Given the description of an element on the screen output the (x, y) to click on. 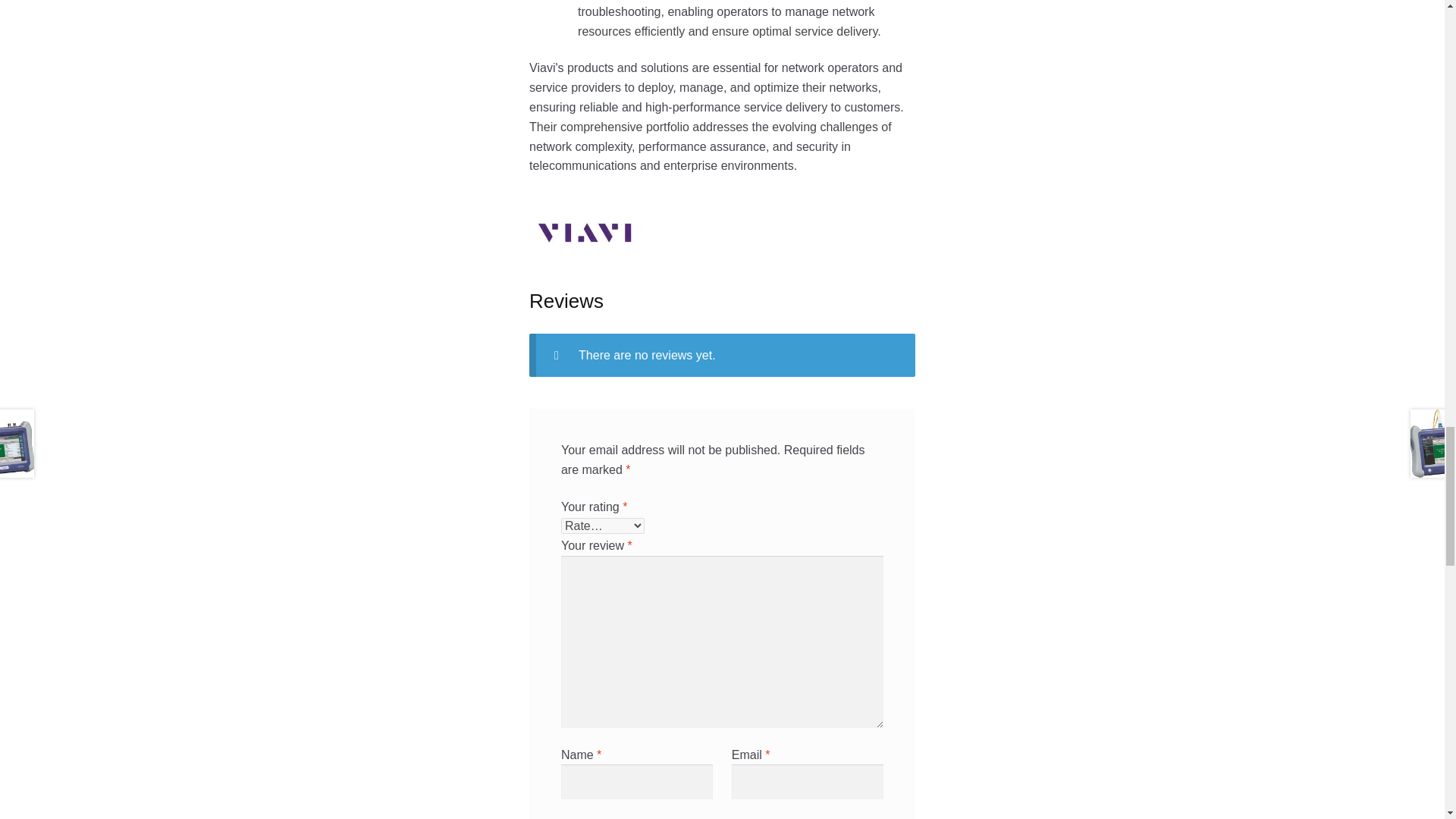
Viavi Repair (722, 232)
